Given the description of an element on the screen output the (x, y) to click on. 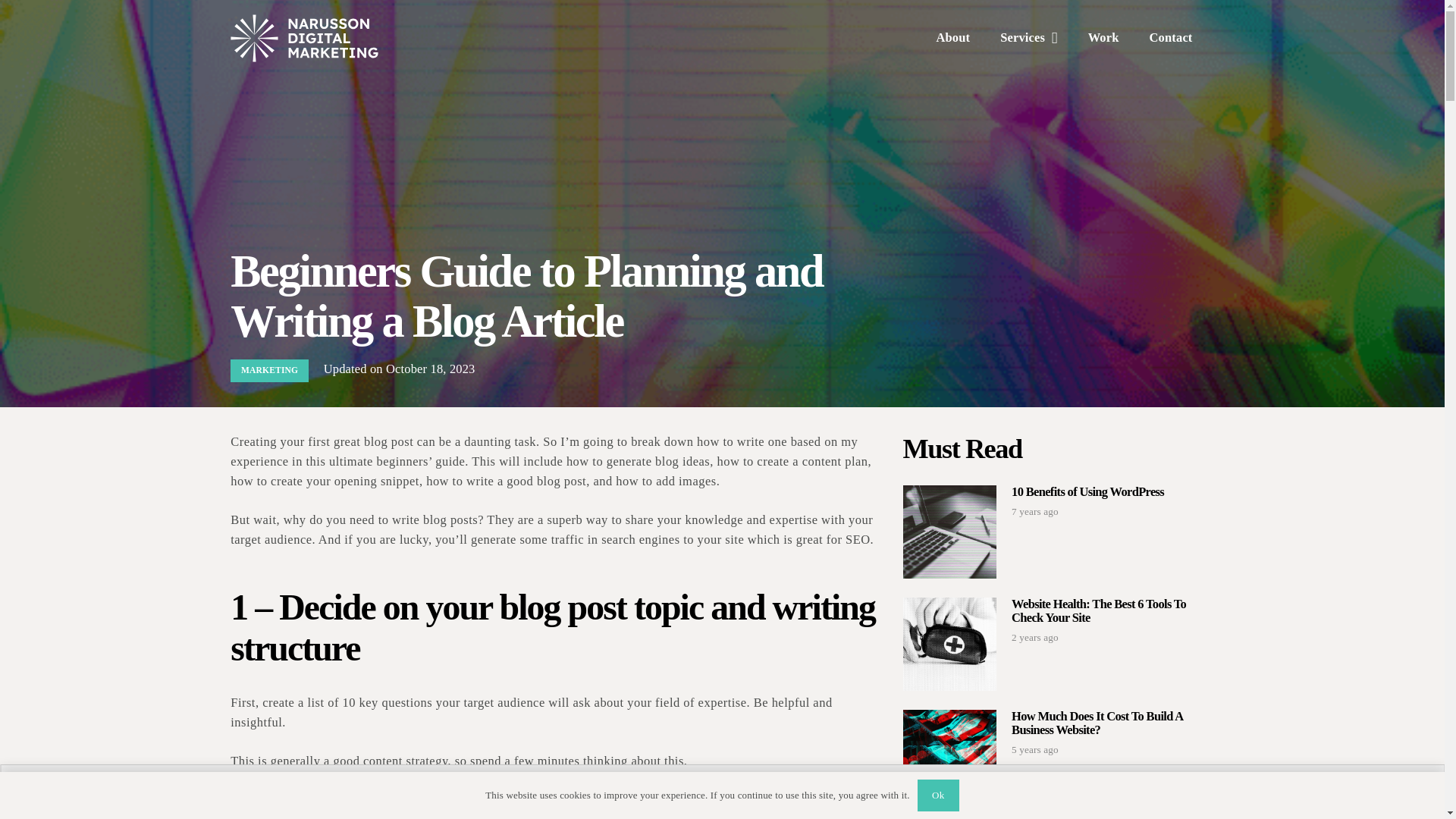
MARKETING (269, 370)
Accept (923, 791)
Services (1028, 38)
10 Benefits of Using WordPress (1087, 491)
Website Health: The Best 6 Tools To Check Your Site (1098, 610)
Services (1028, 38)
Contact (1171, 38)
privacy policy (674, 791)
Contact Web Designer Mark Narusson (1171, 38)
How Much Does It Cost To Build A Business Website? (1096, 723)
